Given the description of an element on the screen output the (x, y) to click on. 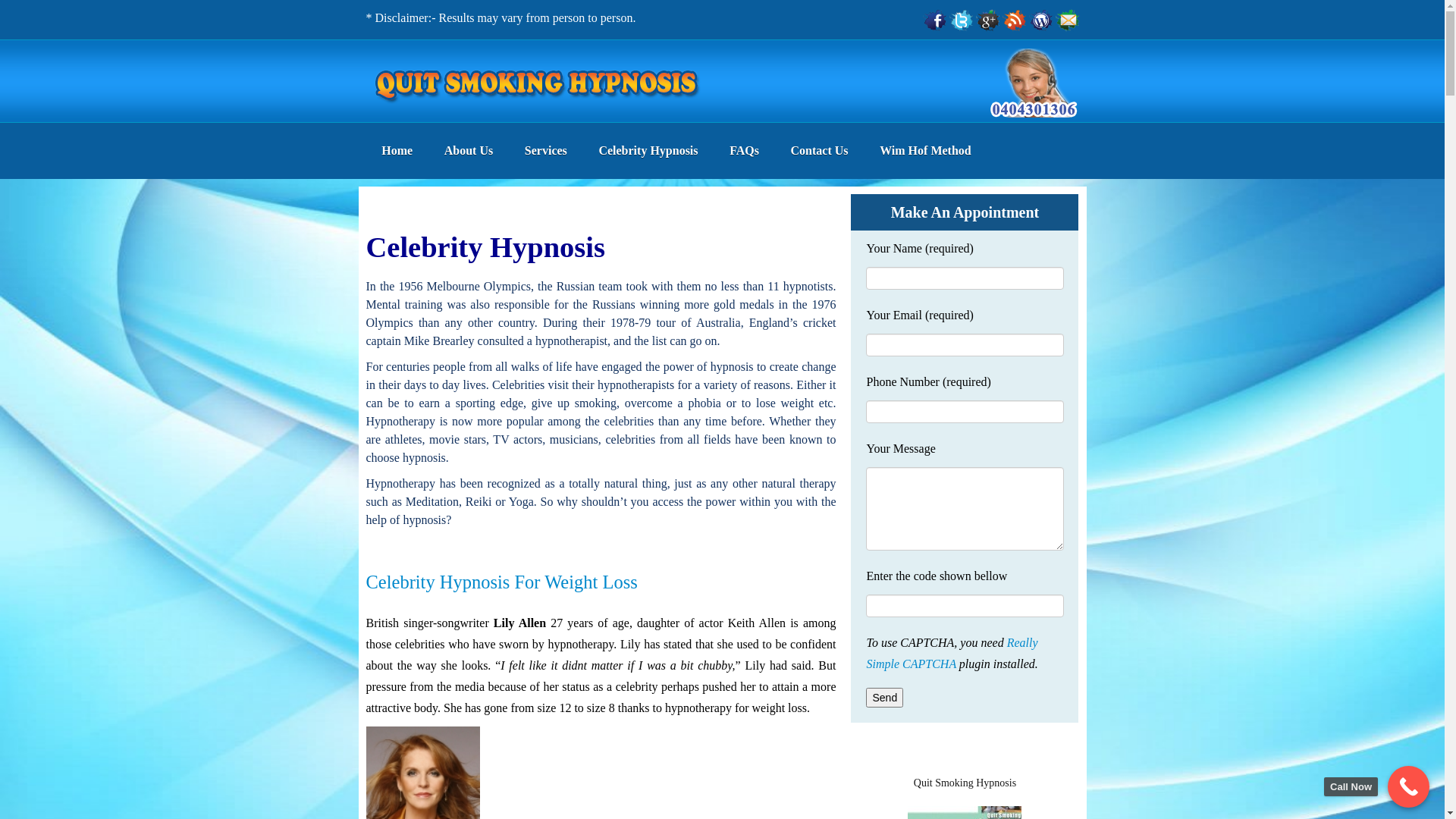
Services Element type: text (545, 150)
Celebrity Hypnosis For Weight Loss Element type: text (501, 581)
Send Element type: text (884, 697)
Wim Hof Method Element type: text (925, 150)
FAQs Element type: text (744, 150)
Contact Us Element type: text (819, 150)
About Us Element type: text (468, 150)
Home Element type: text (396, 150)
Call Now Element type: text (1408, 786)
Celebrity Hypnosis Element type: text (647, 150)
Really Simple CAPTCHA Element type: text (951, 653)
